Given the description of an element on the screen output the (x, y) to click on. 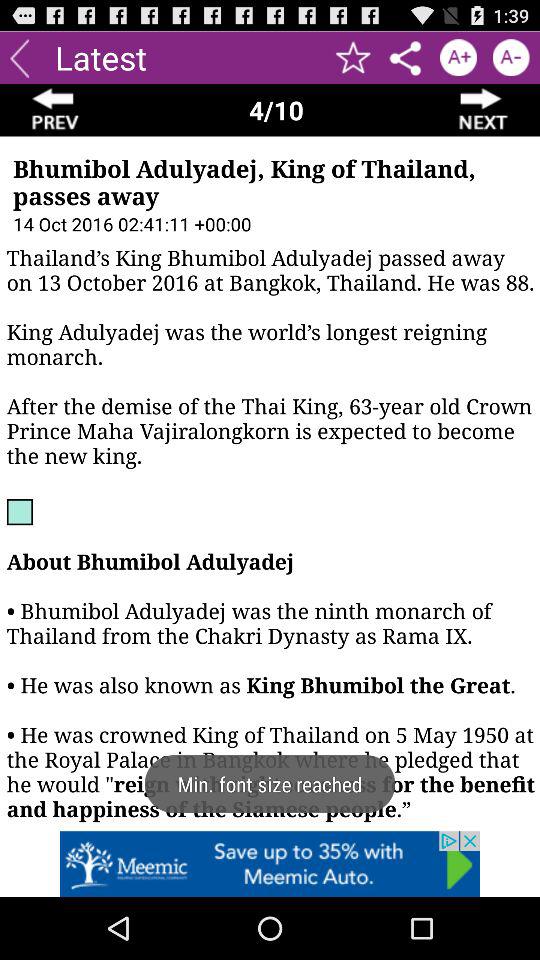
assign a grade (458, 57)
